Given the description of an element on the screen output the (x, y) to click on. 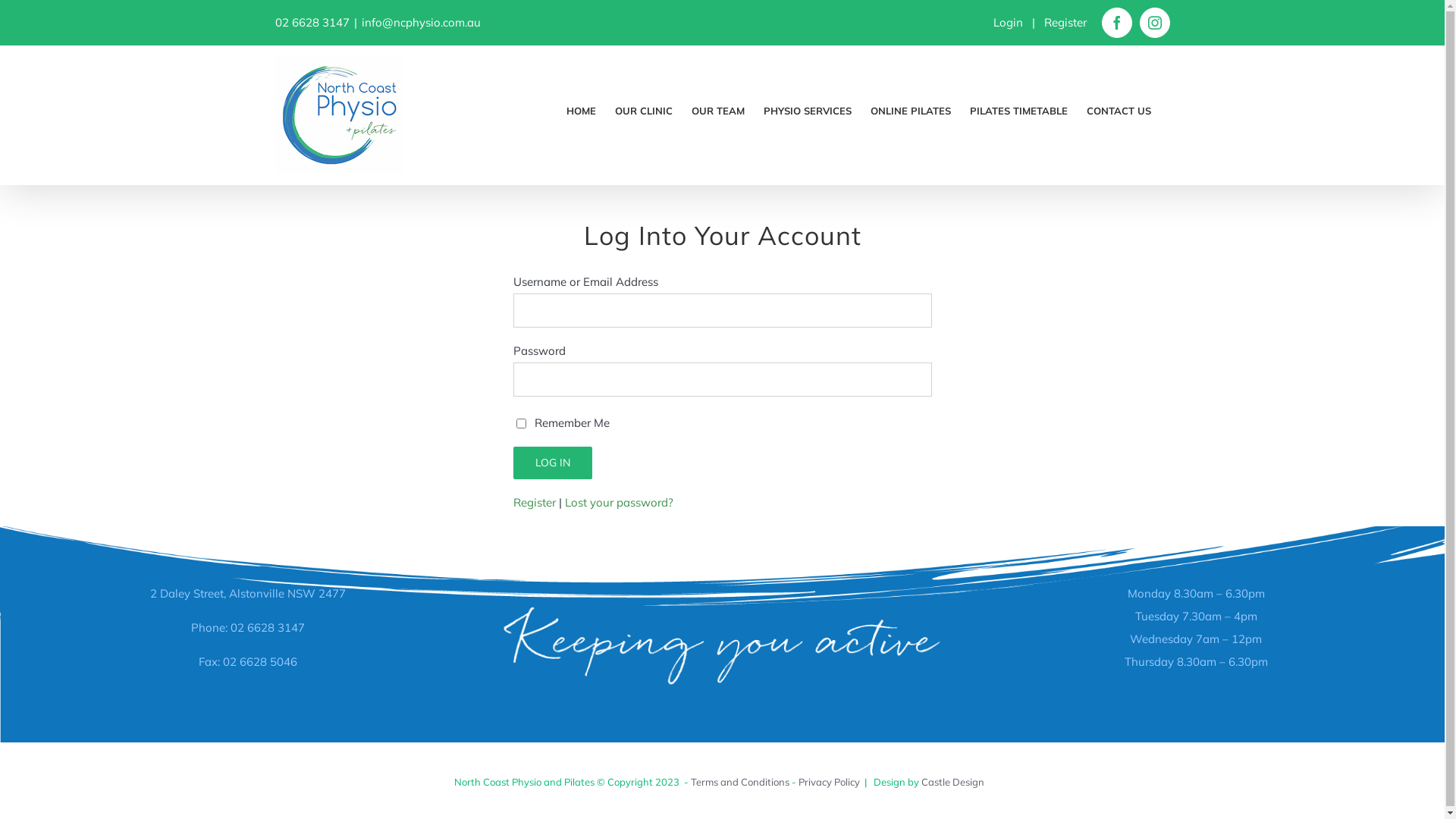
Register Element type: text (533, 502)
PILATES TIMETABLE Element type: text (1017, 106)
HOME Element type: text (580, 106)
OUR TEAM Element type: text (717, 106)
OUR CLINIC Element type: text (642, 106)
Privacy Policy Element type: text (828, 781)
PHYSIO SERVICES Element type: text (806, 106)
Lost your password? Element type: text (618, 502)
info@ncphysio.com.au Element type: text (420, 22)
Log In Element type: text (551, 462)
Login Element type: text (1007, 22)
Facebook Element type: text (1116, 22)
CONTACT US Element type: text (1117, 106)
ONLINE PILATES Element type: text (910, 106)
Castle Design Element type: text (951, 781)
Terms and Conditions Element type: text (739, 781)
Instagram Element type: text (1154, 22)
Register Element type: text (1064, 22)
